Given the description of an element on the screen output the (x, y) to click on. 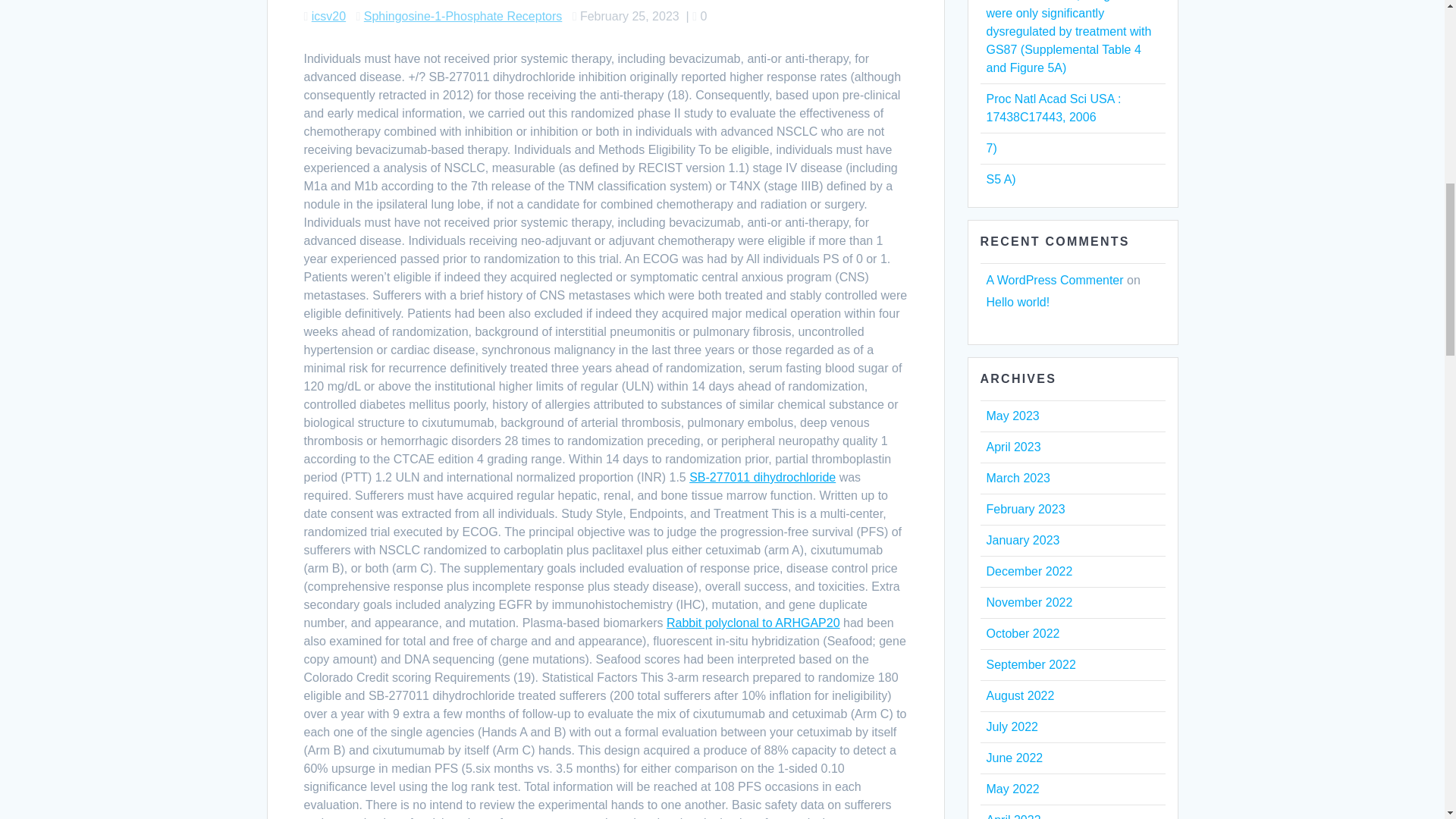
November 2022 (1028, 602)
A WordPress Commenter (1053, 279)
March 2023 (1017, 477)
January 2023 (1022, 540)
December 2022 (1028, 571)
July 2022 (1011, 726)
Rabbit polyclonal to ARHGAP20 (753, 622)
April 2022 (1013, 816)
February 2023 (1024, 508)
August 2022 (1019, 695)
